Given the description of an element on the screen output the (x, y) to click on. 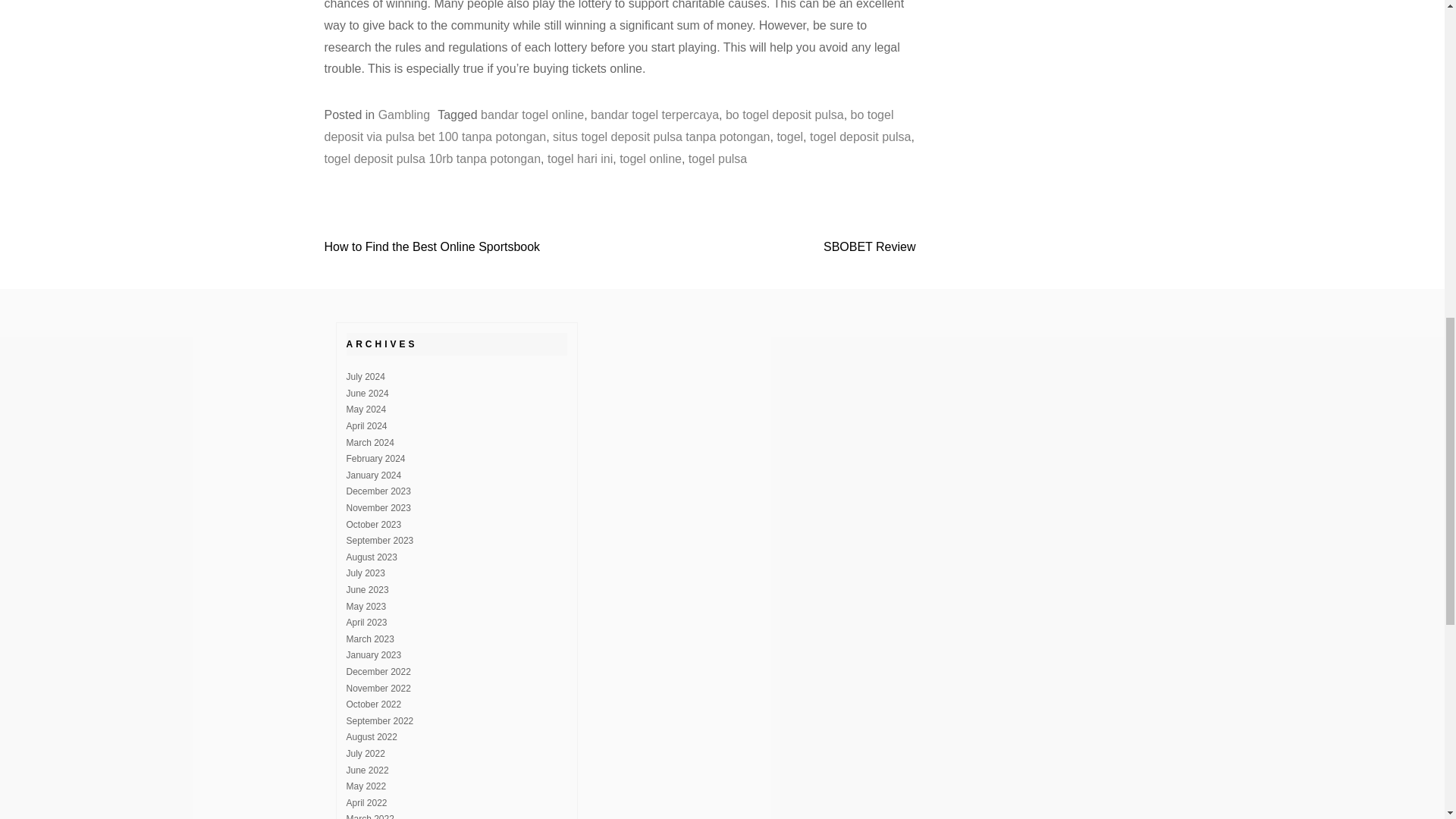
How to Find the Best Online Sportsbook (432, 246)
September 2023 (379, 540)
January 2024 (373, 475)
bandar togel terpercaya (655, 114)
togel hari ini (579, 158)
situs togel deposit pulsa tanpa potongan (661, 136)
Gambling (403, 114)
bo togel deposit via pulsa bet 100 tanpa potongan (608, 125)
February 2024 (375, 458)
SBOBET Review (869, 246)
